Given the description of an element on the screen output the (x, y) to click on. 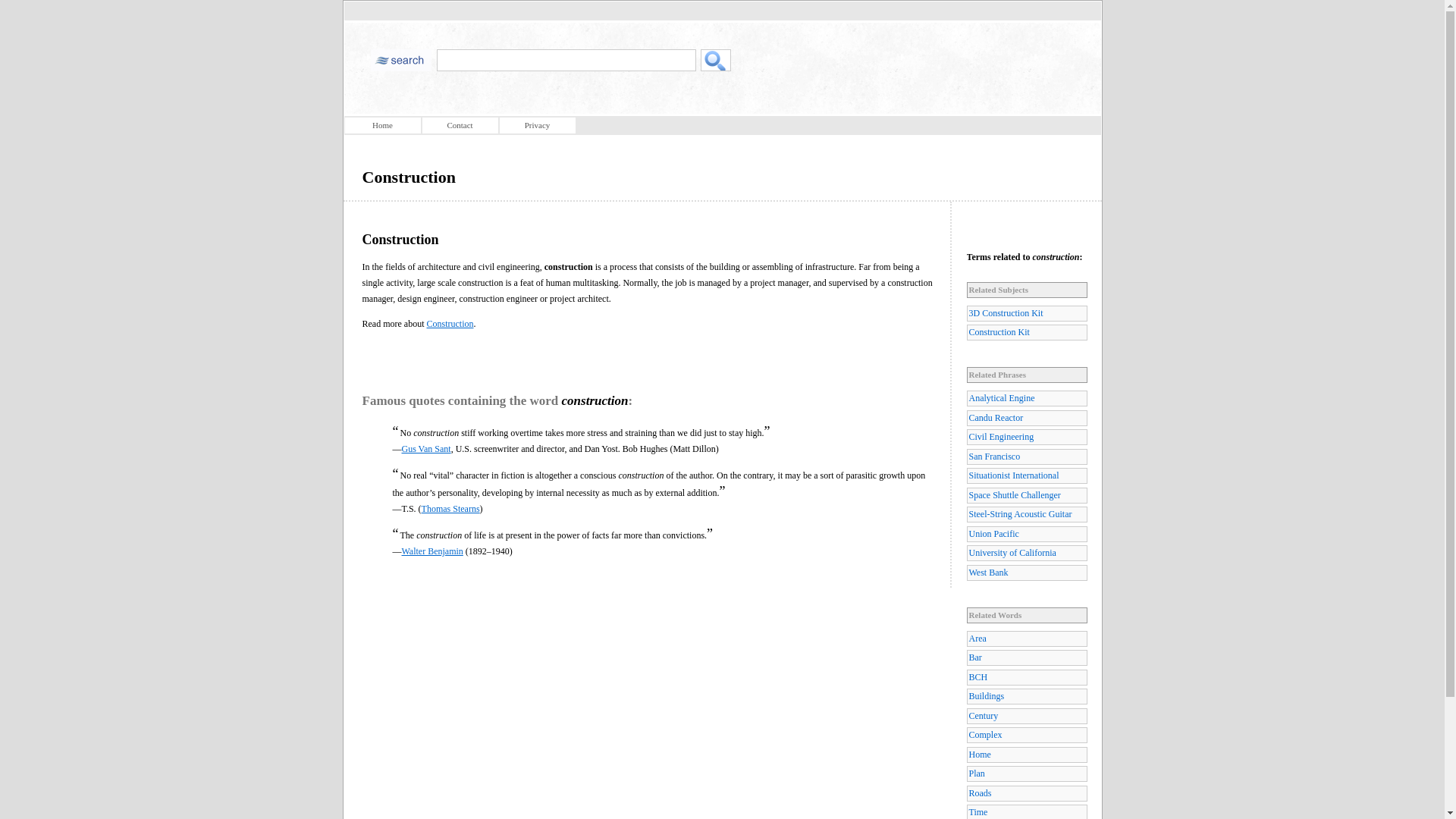
Who is Thomas Stearns? (451, 508)
Gus Van Sant (426, 448)
Privacy (537, 125)
Construction (449, 323)
Plan (1026, 773)
BCH (1026, 677)
Union Pacific (1026, 534)
Civil Engineering (1026, 437)
Roads (1026, 793)
Buildings (1026, 696)
Walter Benjamin (432, 551)
3D Construction Kit (1026, 313)
Home (1026, 754)
Home (381, 125)
Who is Gus Van Sant? (426, 448)
